Given the description of an element on the screen output the (x, y) to click on. 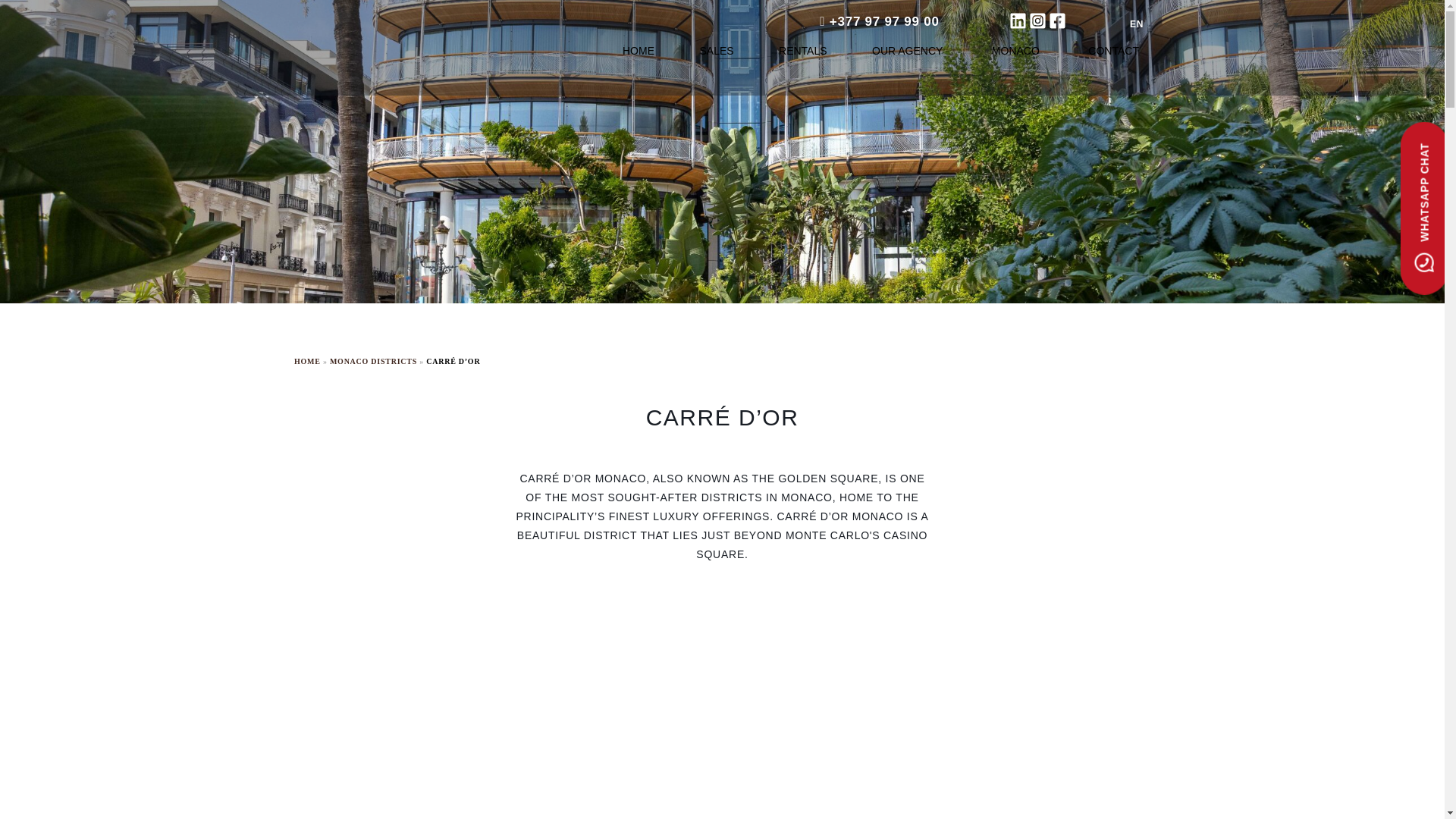
CONTACT (1113, 50)
OUR AGENCY (909, 50)
OUR AGENCY (909, 50)
RENTALS (802, 50)
SALES (715, 50)
MONACO (1016, 50)
HOME (638, 50)
EN (1204, 23)
